Given the description of an element on the screen output the (x, y) to click on. 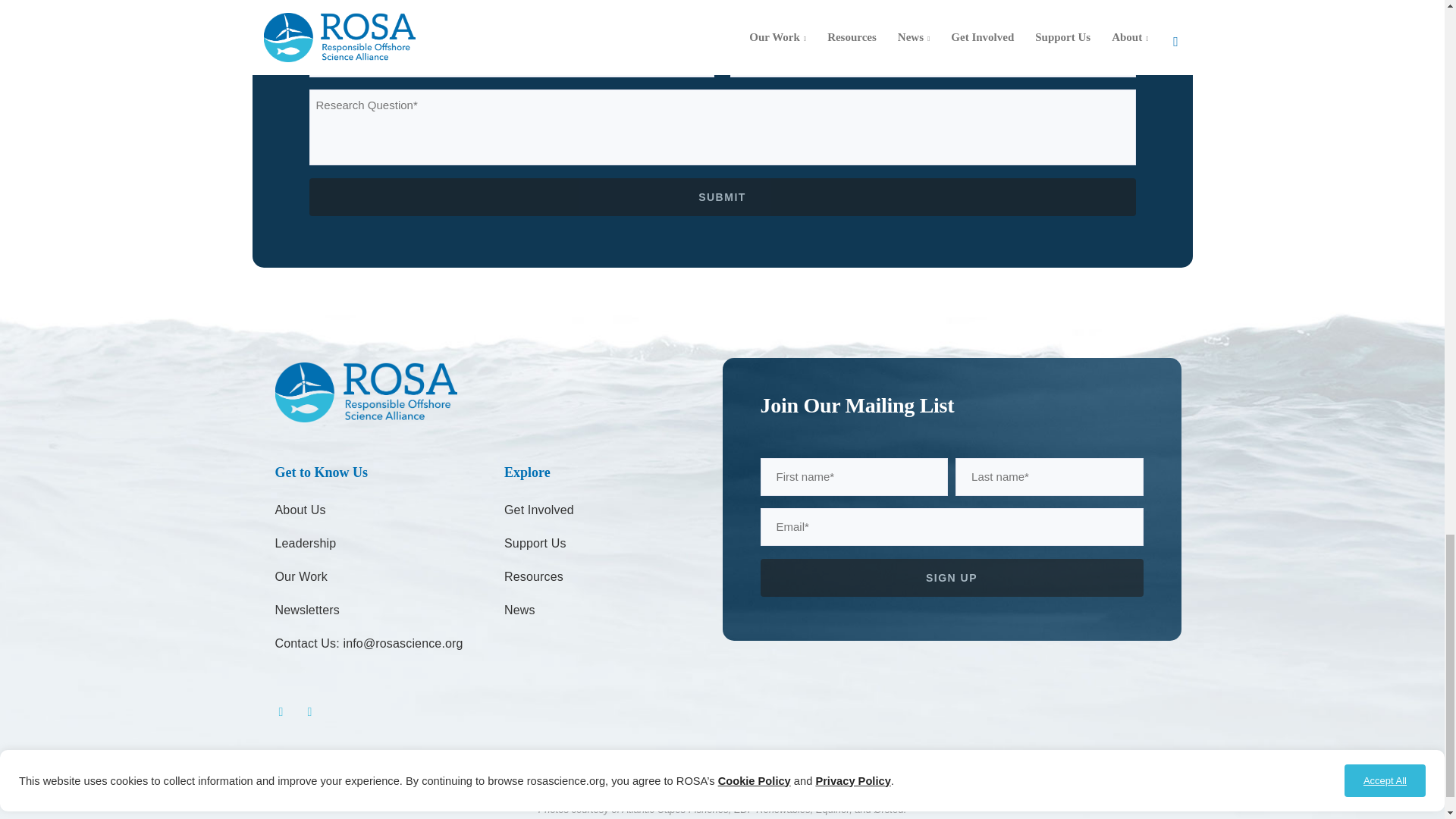
Sign Up (951, 576)
Submit (721, 197)
About Us (299, 509)
Submit (721, 197)
Our Work (300, 576)
Newsletters (307, 609)
Leadership (305, 543)
